Given the description of an element on the screen output the (x, y) to click on. 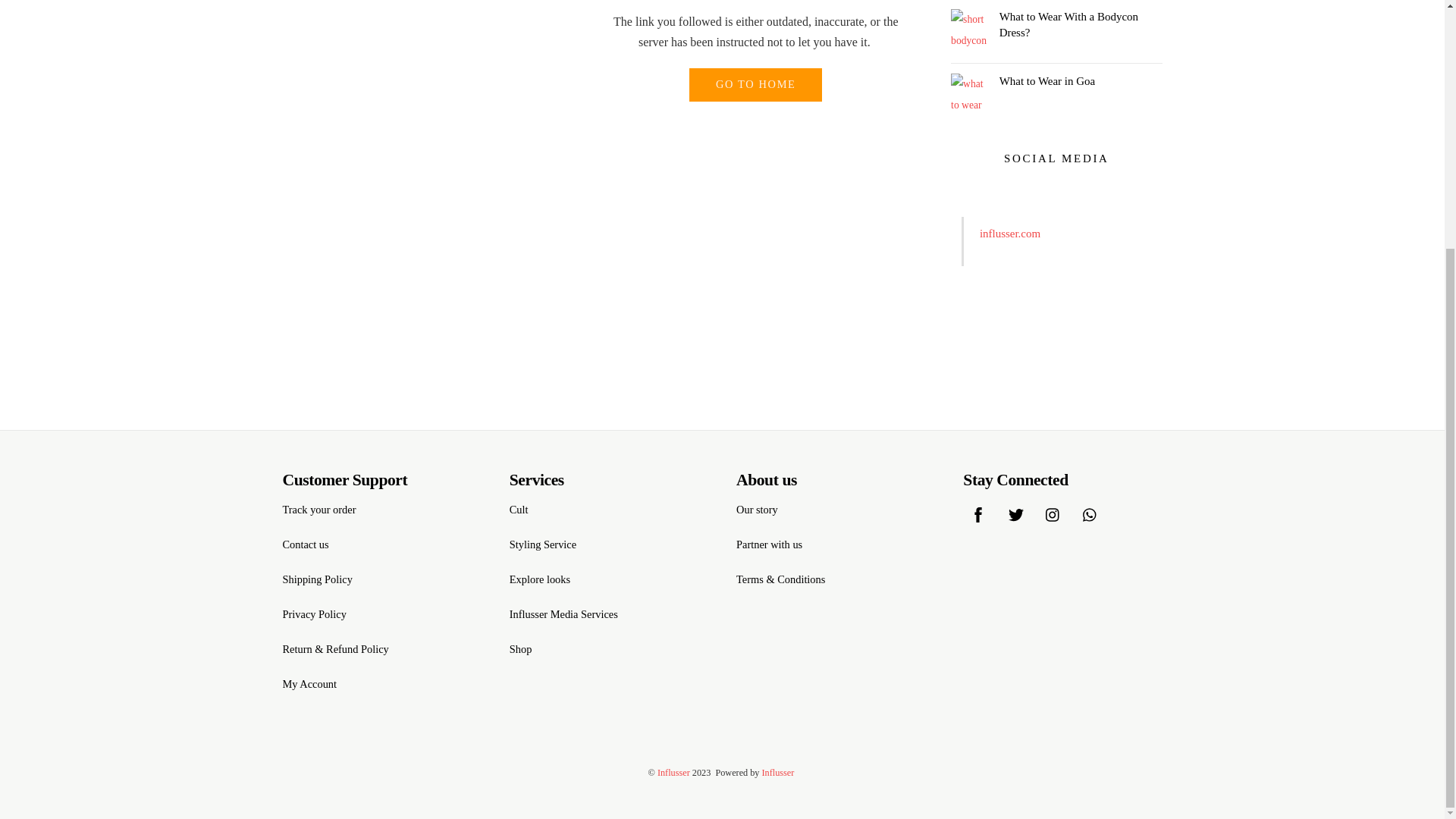
Track your order (318, 509)
black bodycon dress (969, 27)
What to Wear With a Bodycon Dress? (1055, 24)
what to wear in goa (969, 92)
GO TO HOME (755, 84)
What to Wear in Goa  (1055, 80)
influsser.com (1010, 233)
404 (433, 88)
